Given the description of an element on the screen output the (x, y) to click on. 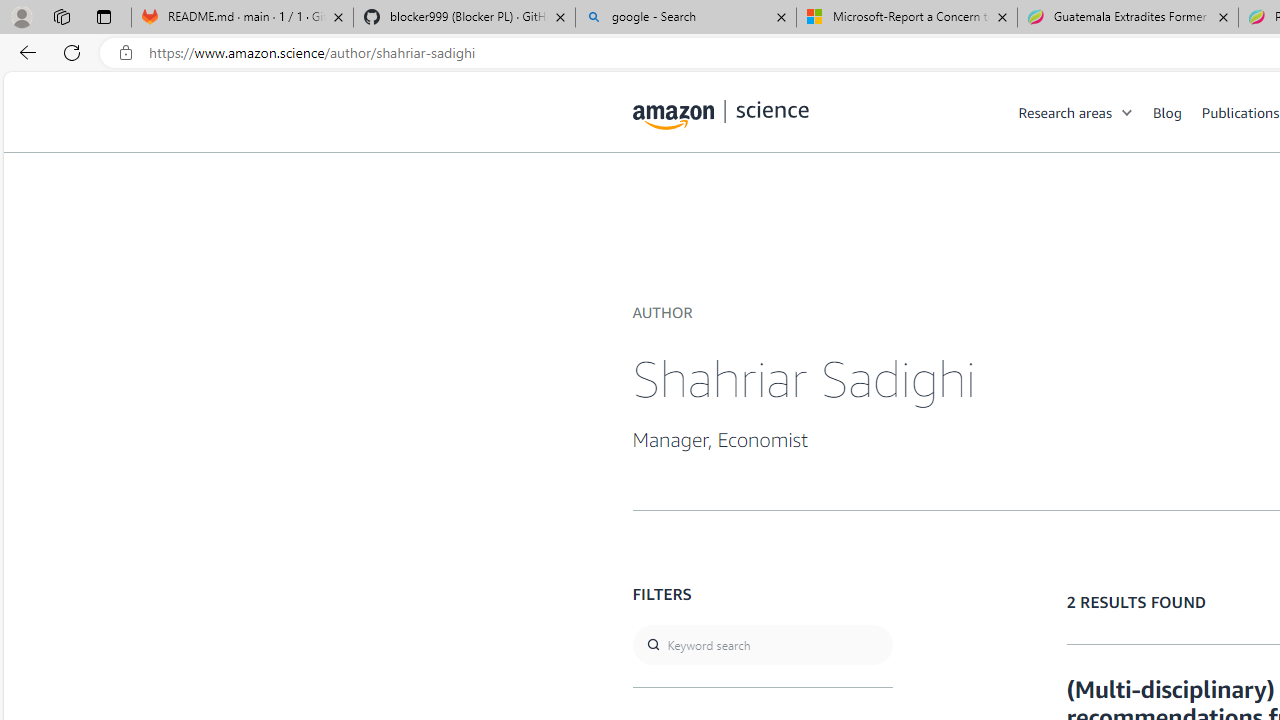
Publications (1240, 111)
Class: chevron (1128, 116)
Research areas (1065, 111)
Blog (1177, 111)
Open Sub Navigation (1128, 111)
Research areas (1085, 111)
Microsoft-Report a Concern to Bing (907, 17)
